Given the description of an element on the screen output the (x, y) to click on. 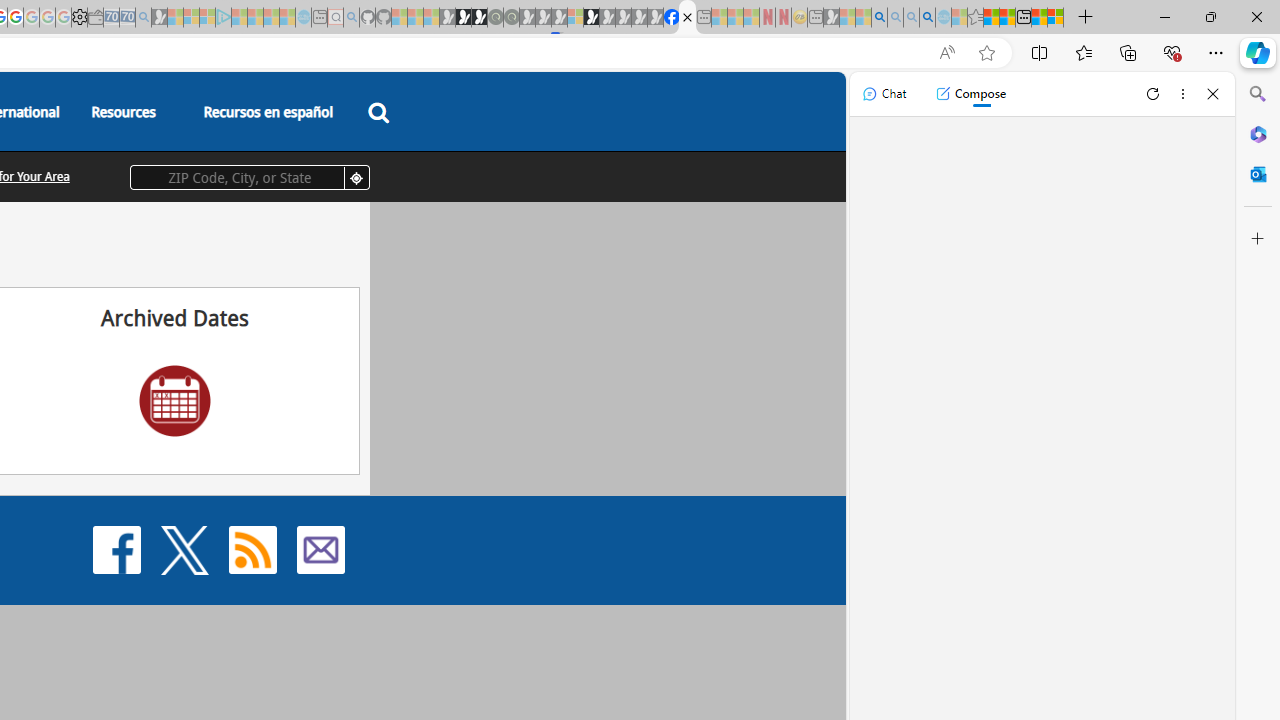
Nordace | Facebook (671, 17)
RSS (252, 548)
